Given the description of an element on the screen output the (x, y) to click on. 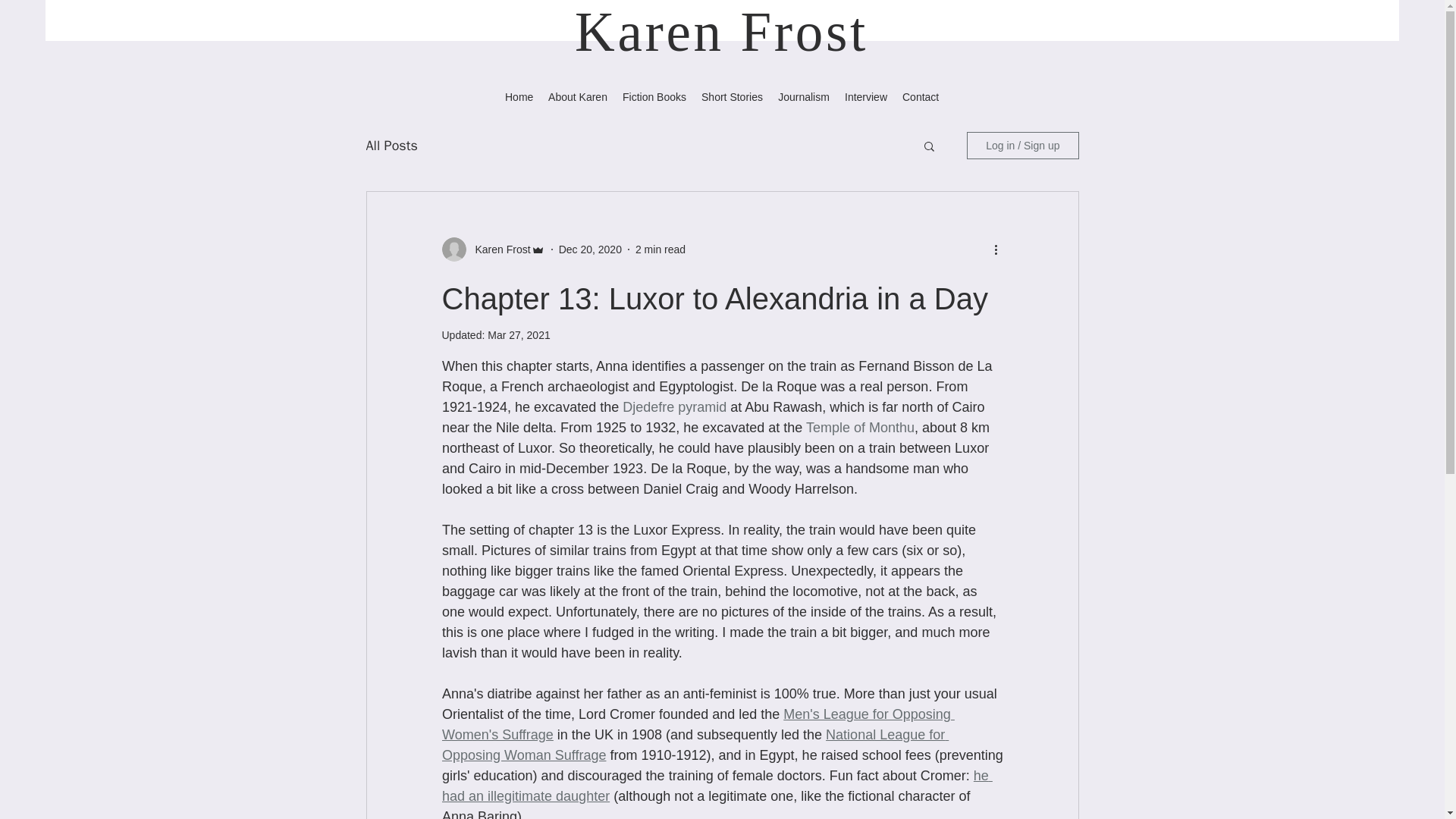
Men's League for Opposing Women's Suffrage (697, 724)
Temple of Monthu (859, 427)
Karen Frost (721, 32)
Karen Frost (497, 248)
About Karen (577, 95)
All Posts (390, 145)
Djedefre pyramid (674, 406)
Journalism (803, 95)
National League for Opposing Woman Suffrage (694, 744)
Short Stories (732, 95)
2 min read (659, 248)
Dec 20, 2020 (590, 248)
Home (518, 95)
Interview (866, 95)
Contact (920, 95)
